Given the description of an element on the screen output the (x, y) to click on. 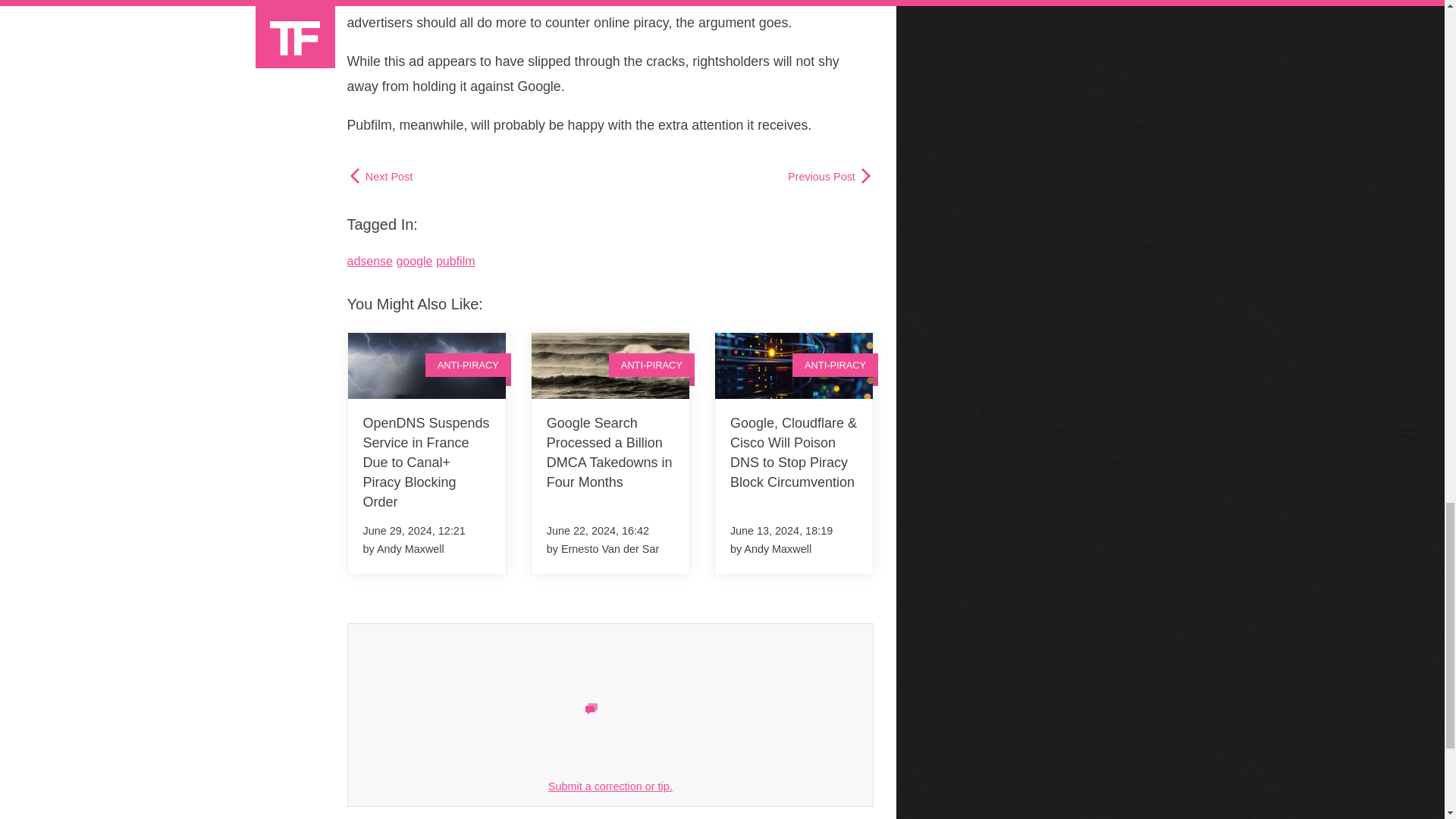
google (414, 260)
adsense (370, 260)
Submit a correction or tip. (610, 786)
Next Post (380, 175)
pubfilm (455, 260)
Previous Post (830, 175)
